Given the description of an element on the screen output the (x, y) to click on. 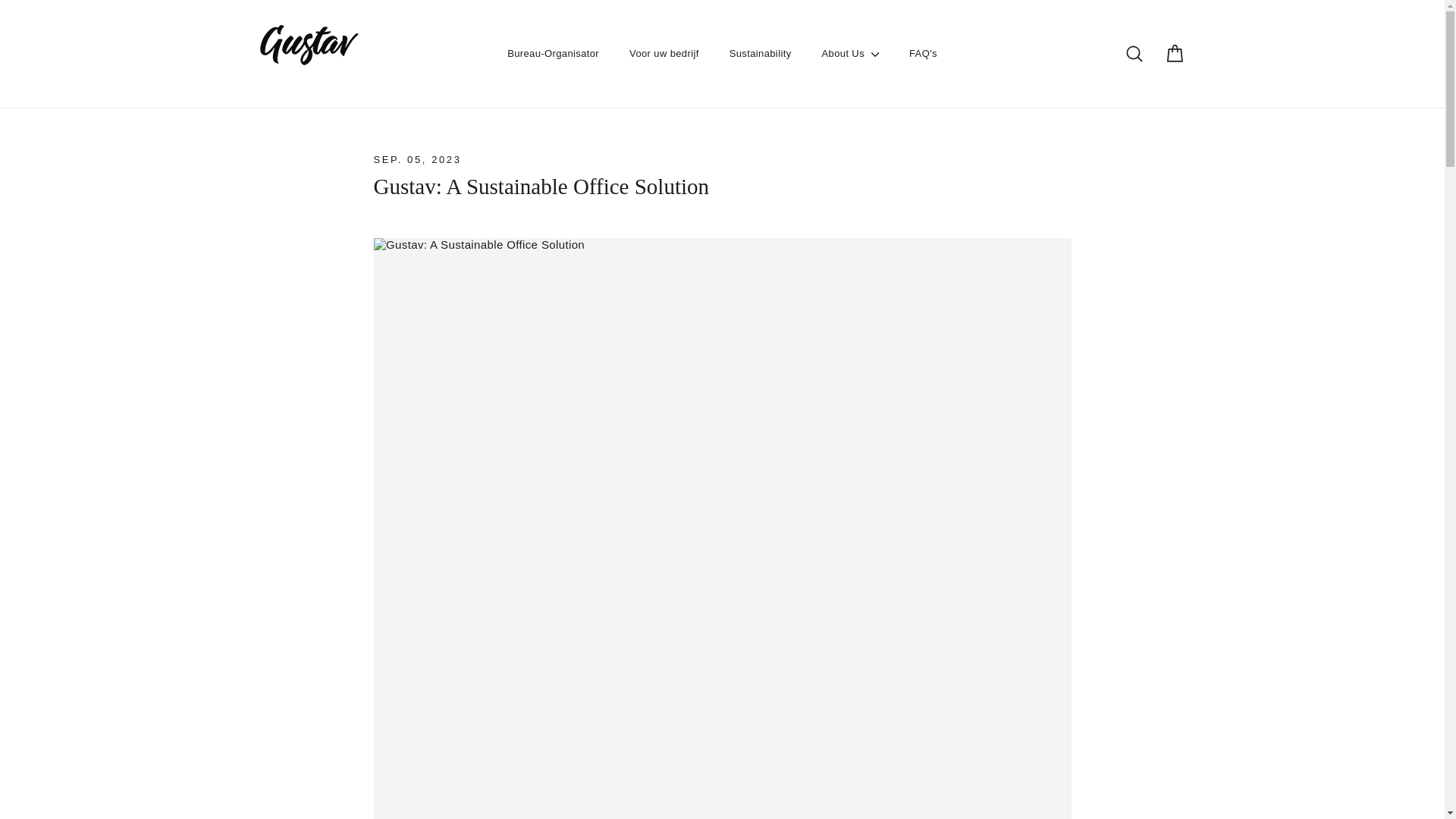
Accept (1371, 791)
icon-search (1134, 76)
Voor uw bedrijf (664, 76)
Decline (1305, 791)
FAQ's (922, 76)
Cart (1173, 76)
Learn more (1134, 76)
Sustainability (872, 791)
Bureau-Organisator (760, 76)
icon-X (553, 76)
